Given the description of an element on the screen output the (x, y) to click on. 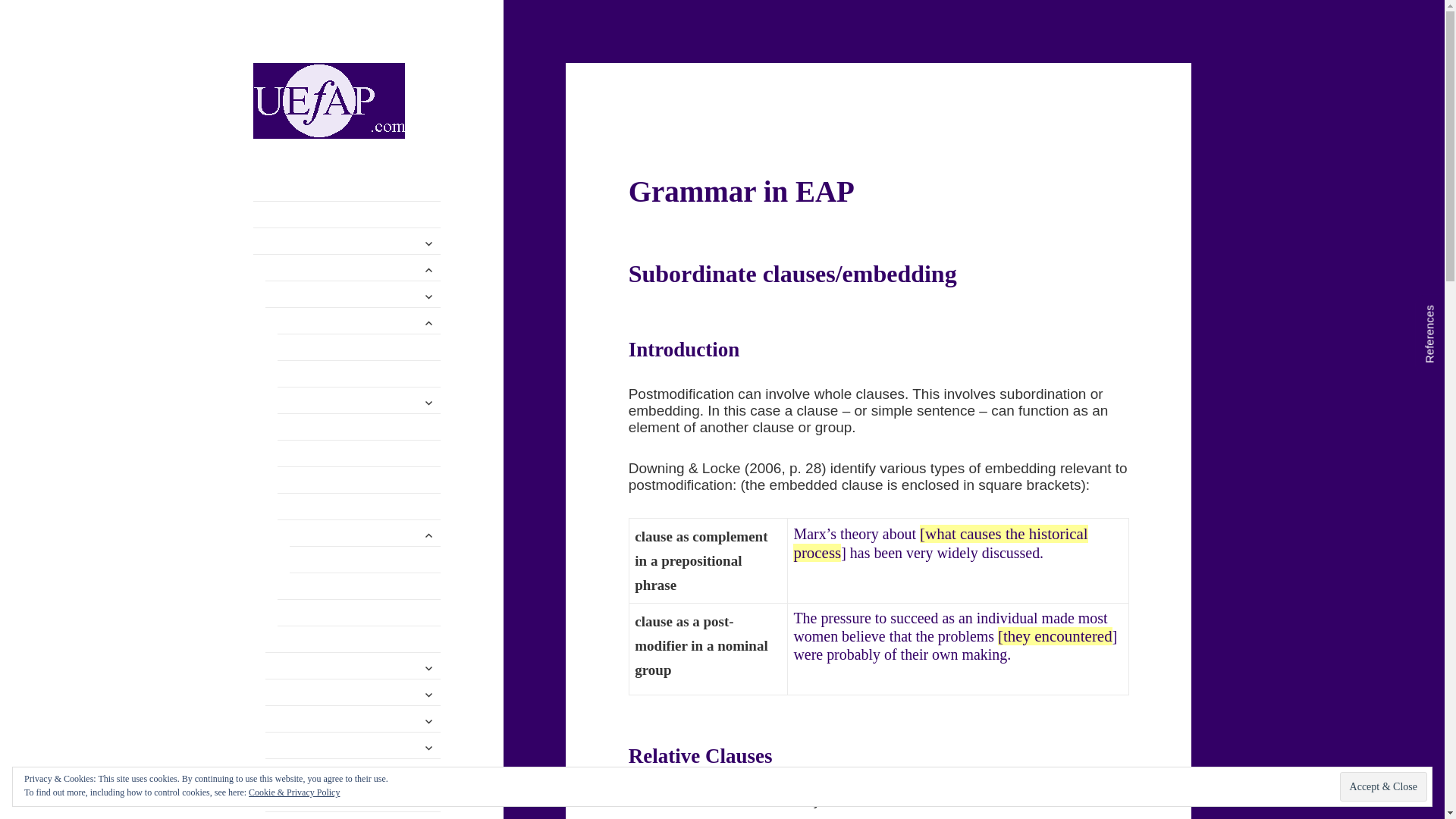
expand child menu (428, 322)
Introduction (352, 294)
Nouns (352, 320)
expand child menu (428, 296)
expand child menu (428, 269)
Accuracy (347, 240)
Home (347, 214)
expand child menu (428, 242)
Grammar (347, 267)
UEfAP (285, 162)
